Given the description of an element on the screen output the (x, y) to click on. 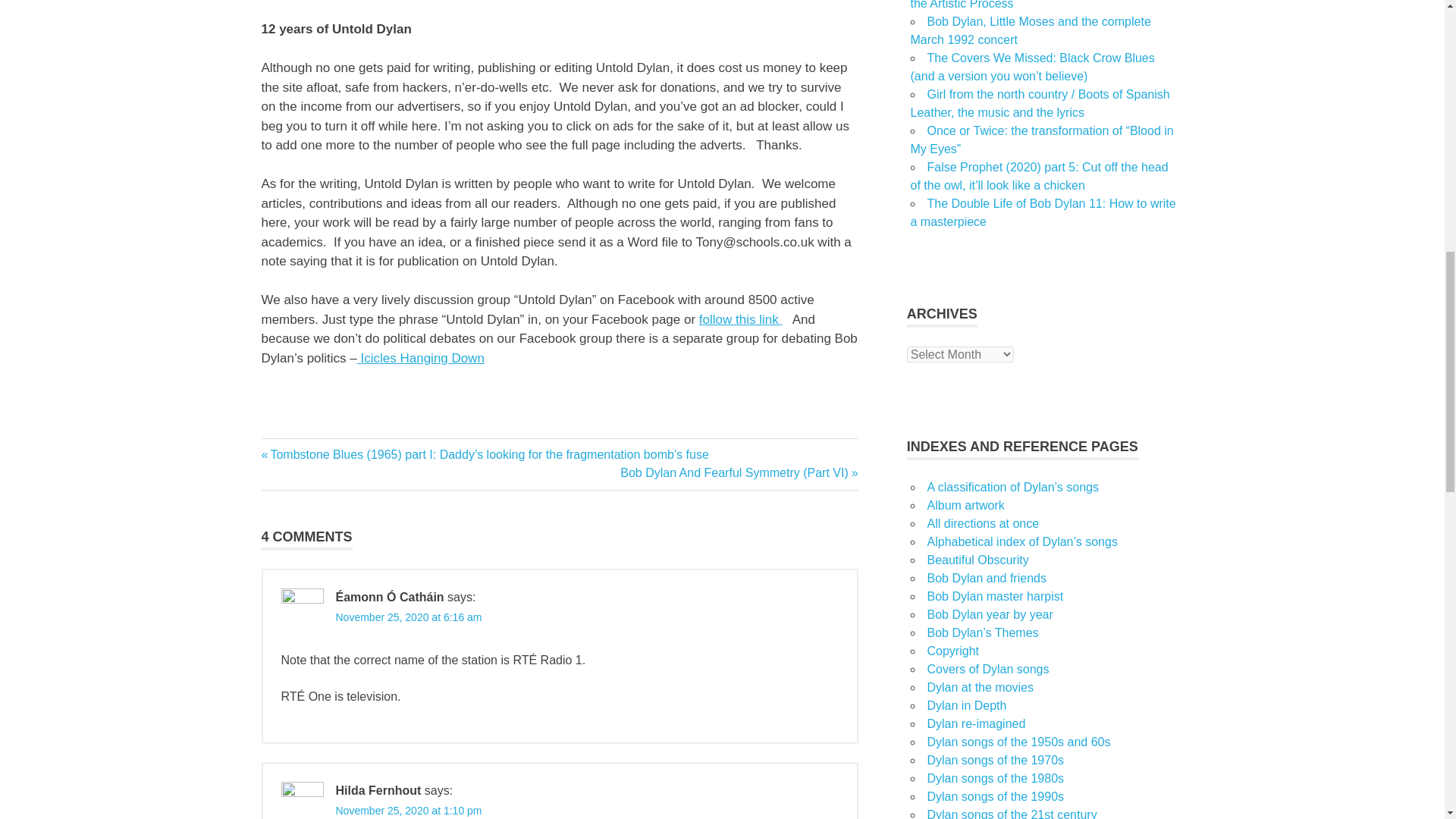
 Icicles Hanging Down (420, 358)
November 25, 2020 at 6:16 am (407, 616)
Bob Dylan, Little Moses and the complete March 1992 concert (1030, 30)
November 25, 2020 at 1:10 pm (407, 810)
follow this link  (740, 319)
